Given the description of an element on the screen output the (x, y) to click on. 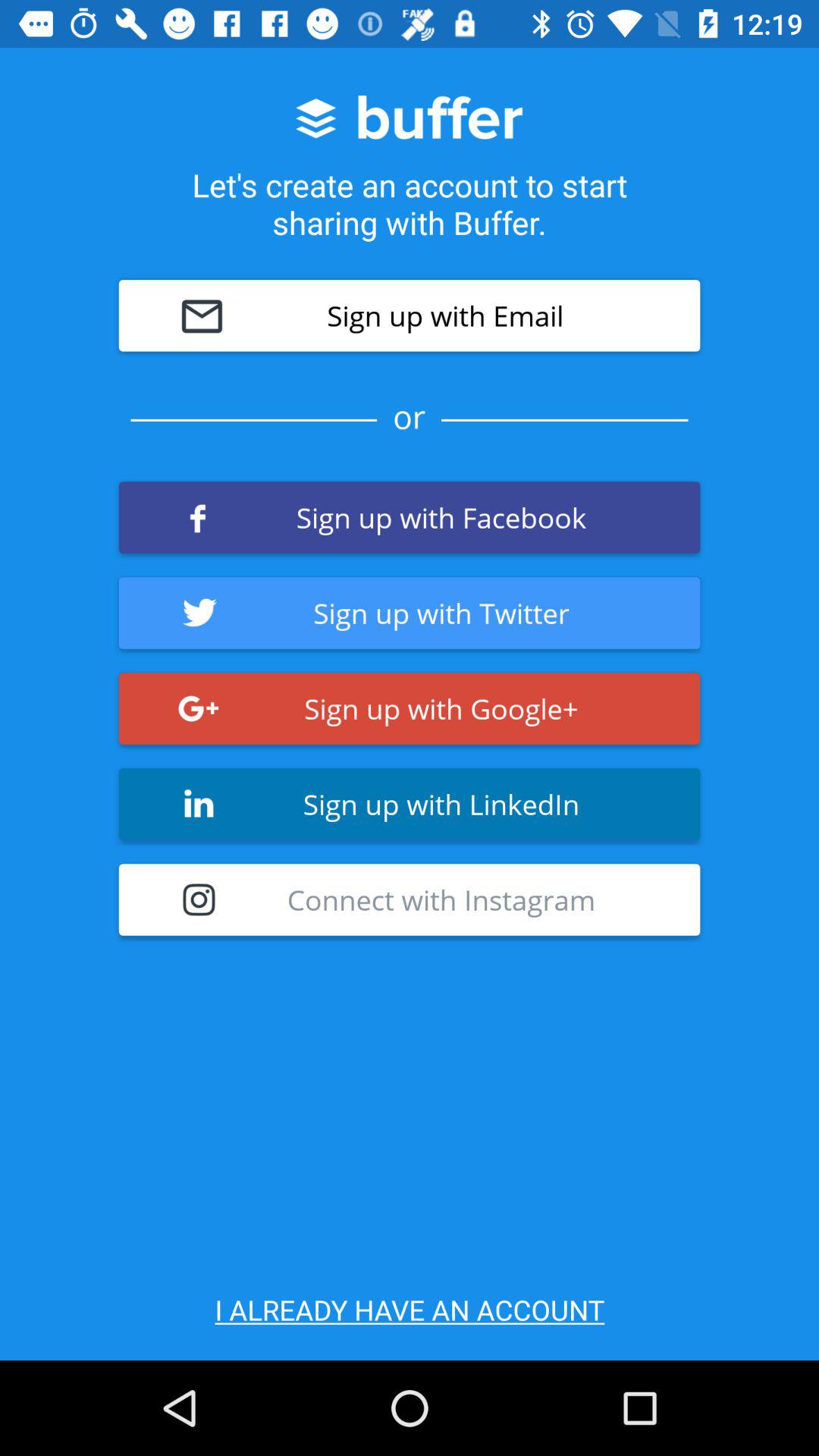
launch the item below sign up with icon (409, 899)
